Given the description of an element on the screen output the (x, y) to click on. 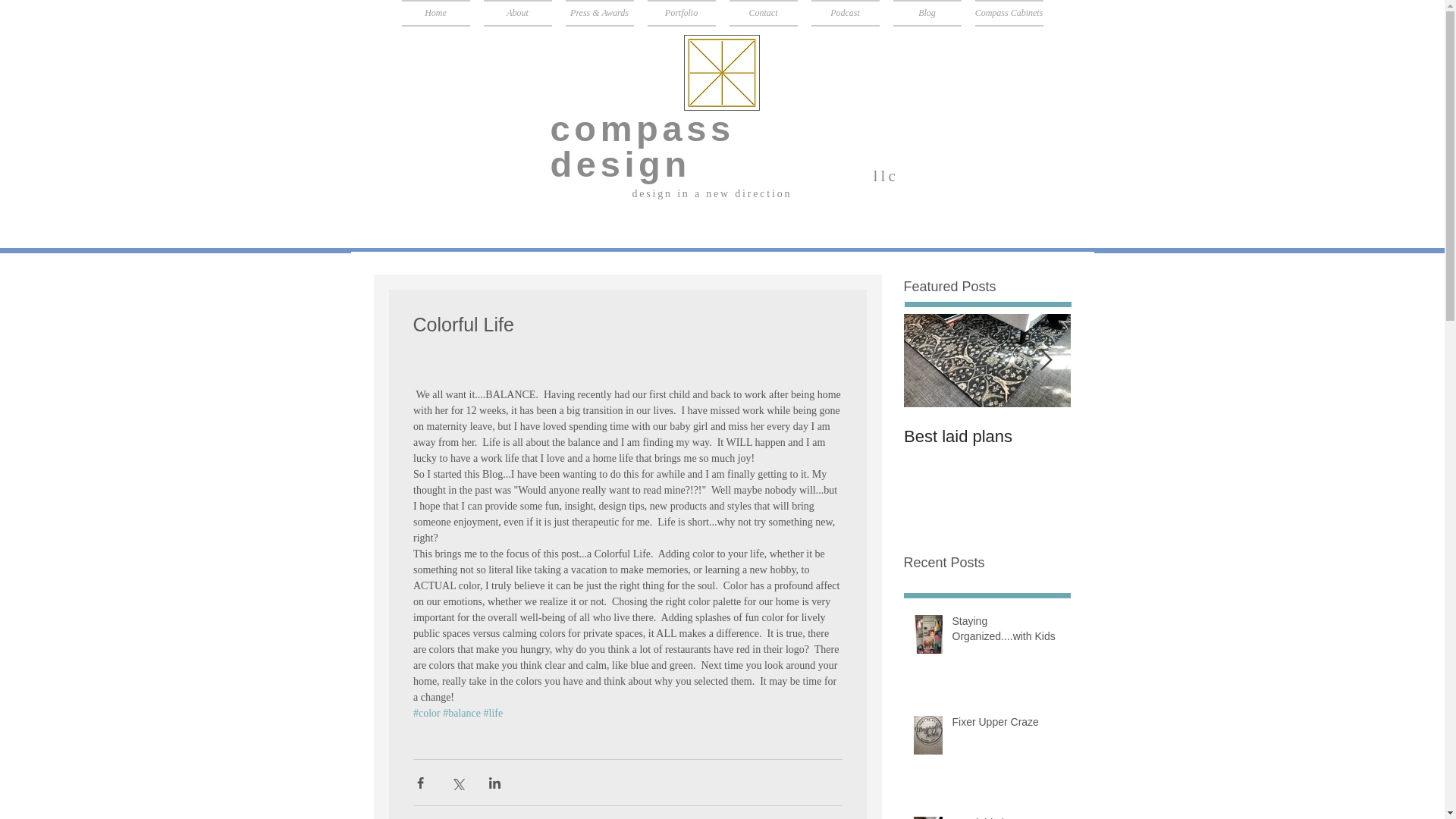
Home (435, 13)
Podcast (844, 13)
Best laid plans (1006, 817)
Show House time again! (1153, 446)
Fixer Upper Craze (1006, 725)
Staying Organized....with Kids (1006, 632)
About (516, 13)
Portfolio (681, 13)
Best laid plans (987, 436)
Blog (926, 13)
Contact (762, 13)
Compass Cabinets (1008, 13)
